Given the description of an element on the screen output the (x, y) to click on. 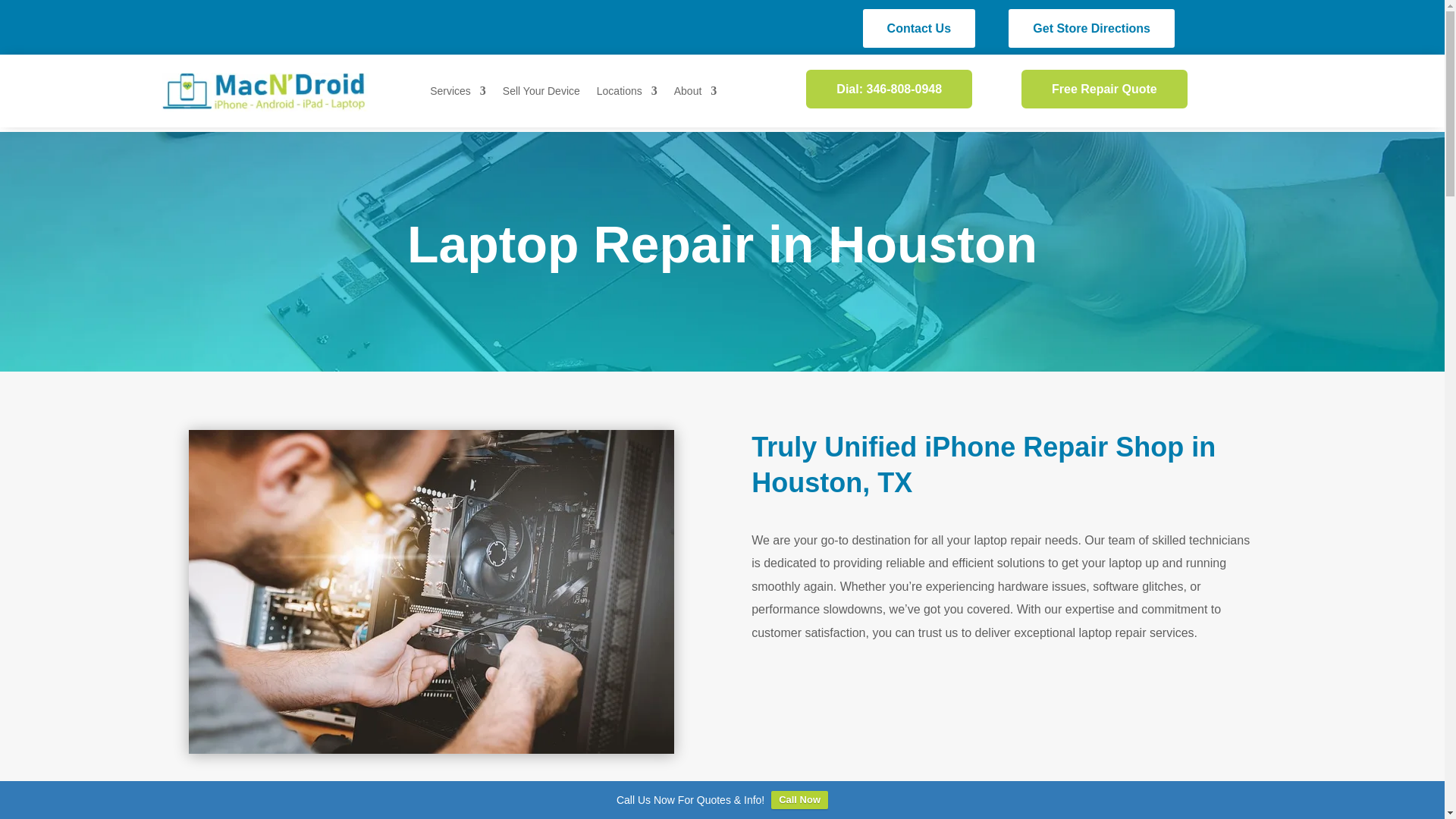
Services (457, 93)
Contact Us (919, 28)
Get Store Directions (1091, 28)
m (264, 91)
